Given the description of an element on the screen output the (x, y) to click on. 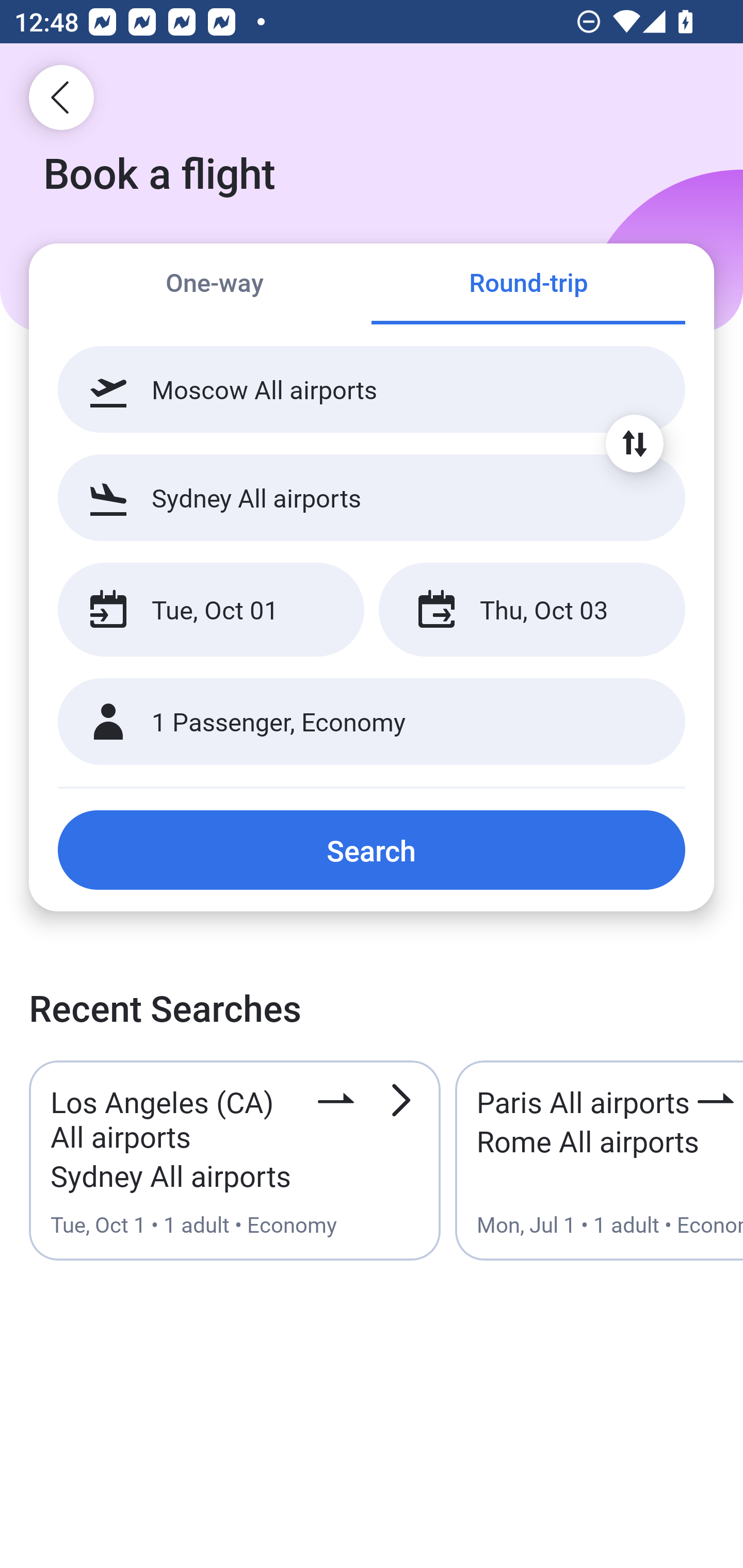
One-way (214, 284)
Moscow All airports (371, 389)
Sydney All airports (371, 497)
Tue, Oct 01 (210, 609)
Thu, Oct 03 (531, 609)
1 Passenger, Economy (371, 721)
Search (371, 849)
